Given the description of an element on the screen output the (x, y) to click on. 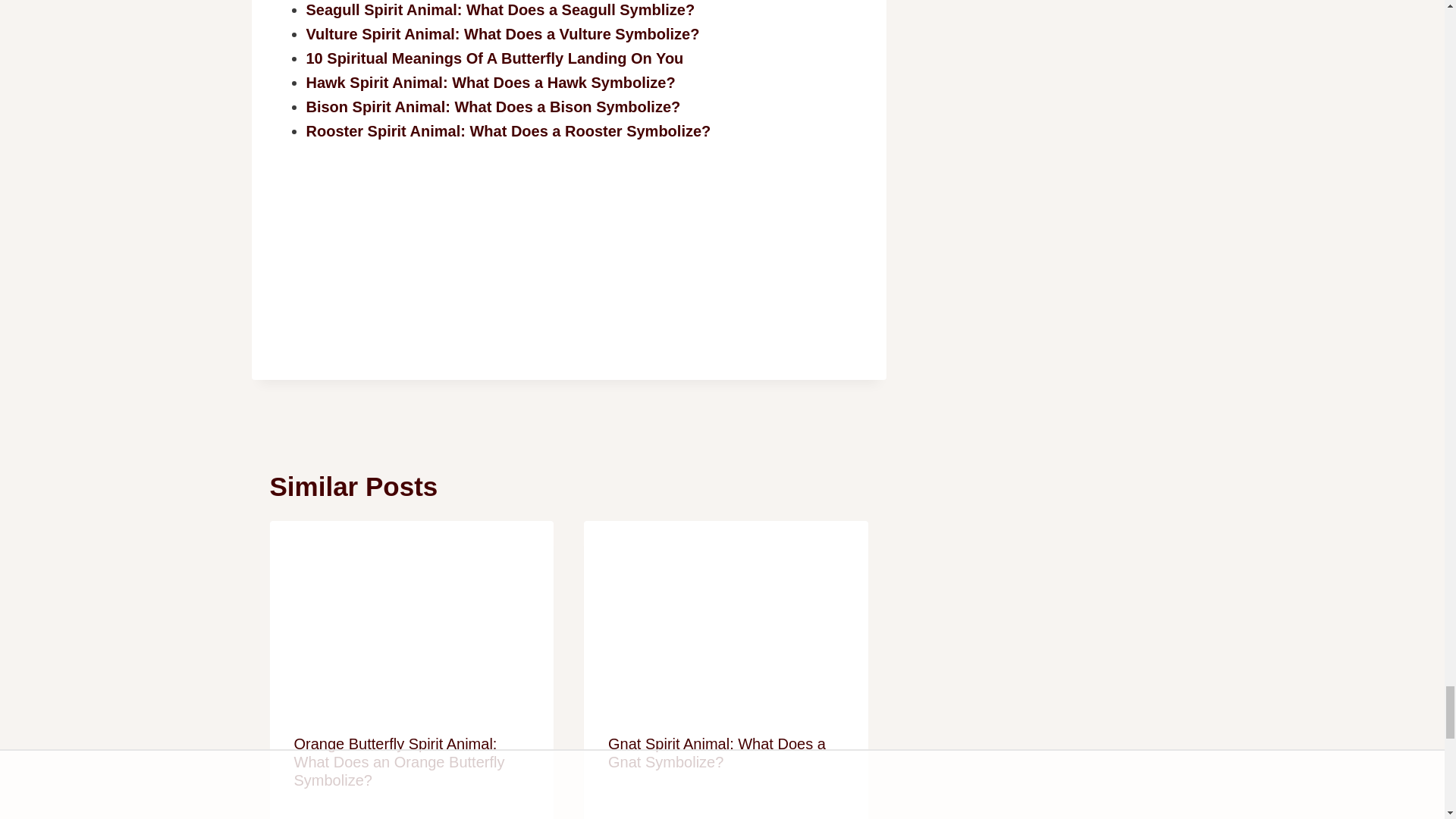
Vulture Spirit Animal: What Does a Vulture Symbolize? (502, 33)
Bison Spirit Animal: What Does a Bison Symbolize? (493, 106)
Seagull Spirit Animal: What Does a Seagull Symblize? (500, 9)
10 Spiritual Meanings Of A Butterfly Landing On You (494, 57)
Gnat Spirit Animal: What Does a Gnat Symbolize? (716, 752)
Rooster Spirit Animal: What Does a Rooster Symbolize? (508, 130)
Hawk Spirit Animal: What Does a Hawk Symbolize? (490, 82)
